Given the description of an element on the screen output the (x, y) to click on. 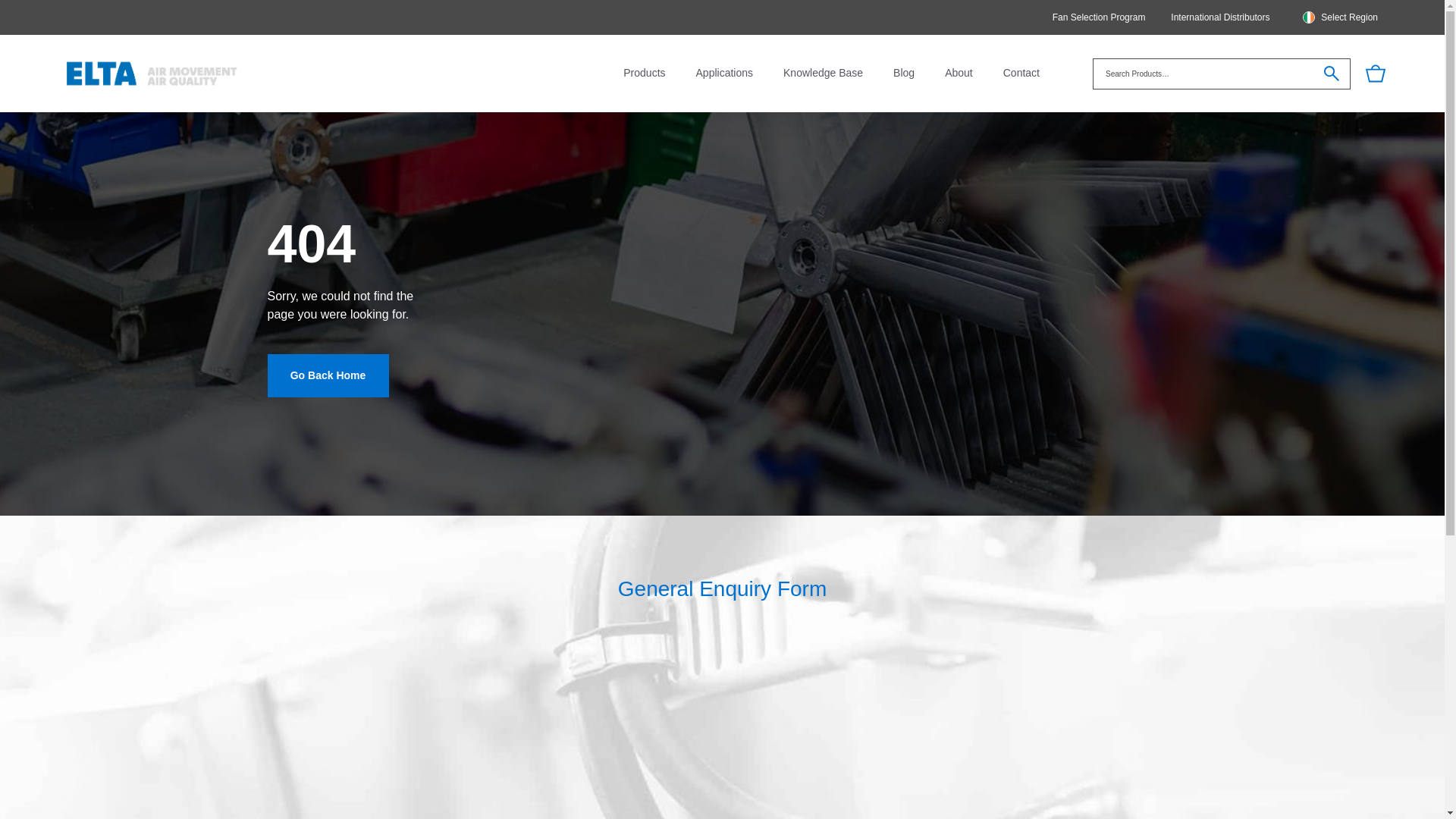
Products (644, 73)
Fan Selection Program (1098, 17)
Search for: (1222, 72)
International Distributors (1219, 17)
Basket Icon (1375, 73)
Knowledge Base (823, 73)
Applications (724, 73)
Elta Ireland (151, 73)
